Given the description of an element on the screen output the (x, y) to click on. 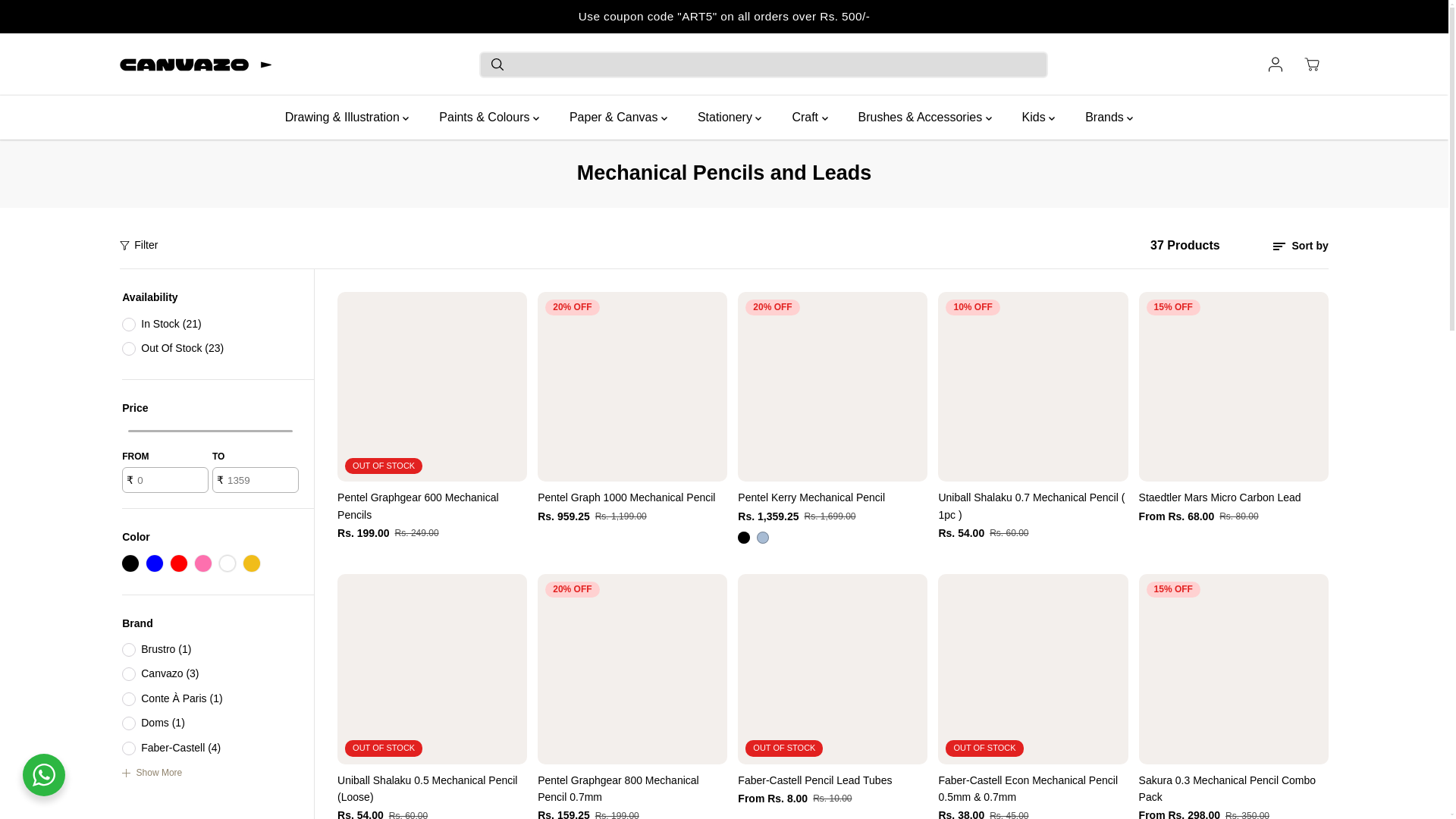
SKIP TO CONTENT (60, 18)
Black (130, 563)
White (227, 563)
In stock (128, 324)
Black (743, 537)
Brustro (128, 649)
Doms (128, 723)
Red (178, 563)
Rose (203, 563)
White (227, 563)
